Given the description of an element on the screen output the (x, y) to click on. 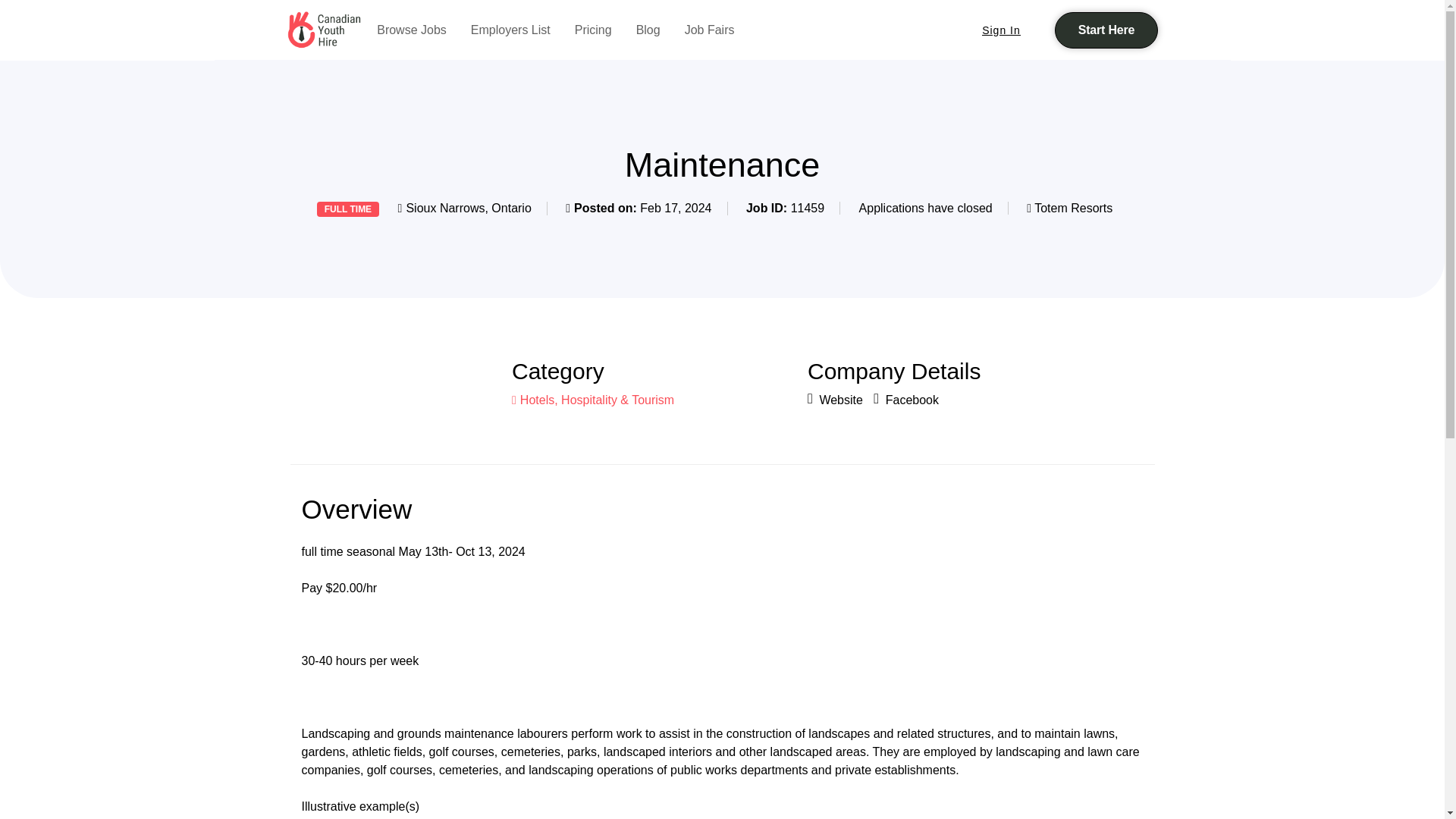
Employers List (510, 30)
Browse Jobs (411, 30)
Job Fairs (709, 30)
Pricing (593, 30)
Sign In (1000, 29)
Start Here (1105, 30)
Sioux Narrows, Ontario (468, 207)
Facebook (906, 399)
Blog (648, 30)
Website (835, 399)
Totem Resorts (1072, 207)
